Given the description of an element on the screen output the (x, y) to click on. 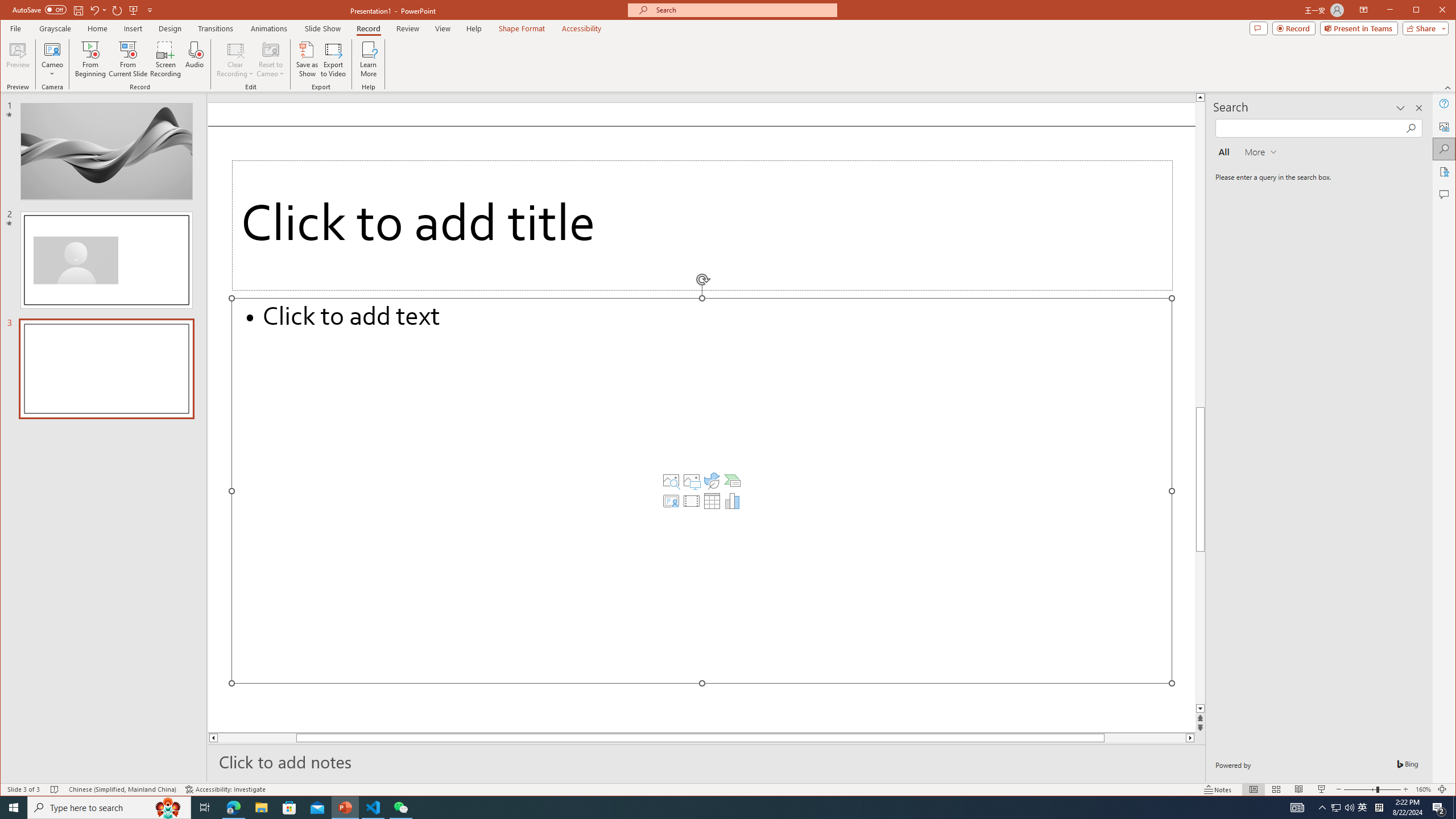
Microsoft Edge - 1 running window (233, 807)
Pictures (691, 480)
Grayscale (55, 28)
Page up (1200, 302)
Maximize (1432, 11)
Start (13, 807)
PowerPoint - 1 running window (345, 807)
Accessibility (1444, 171)
Stock Images (670, 480)
